Given the description of an element on the screen output the (x, y) to click on. 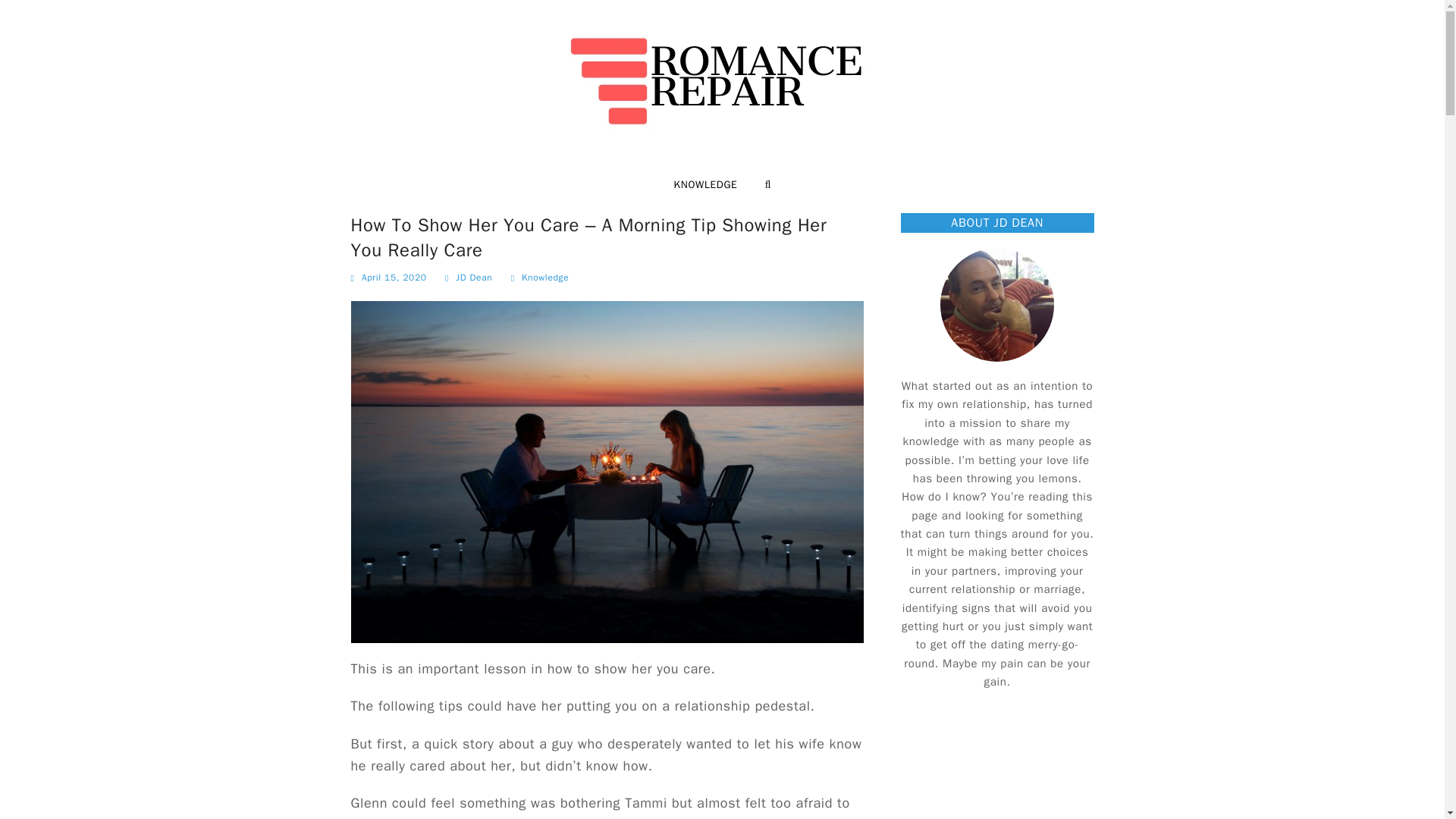
Advertisement (1019, 766)
KNOWLEDGE (705, 184)
Knowledge (545, 278)
